Given the description of an element on the screen output the (x, y) to click on. 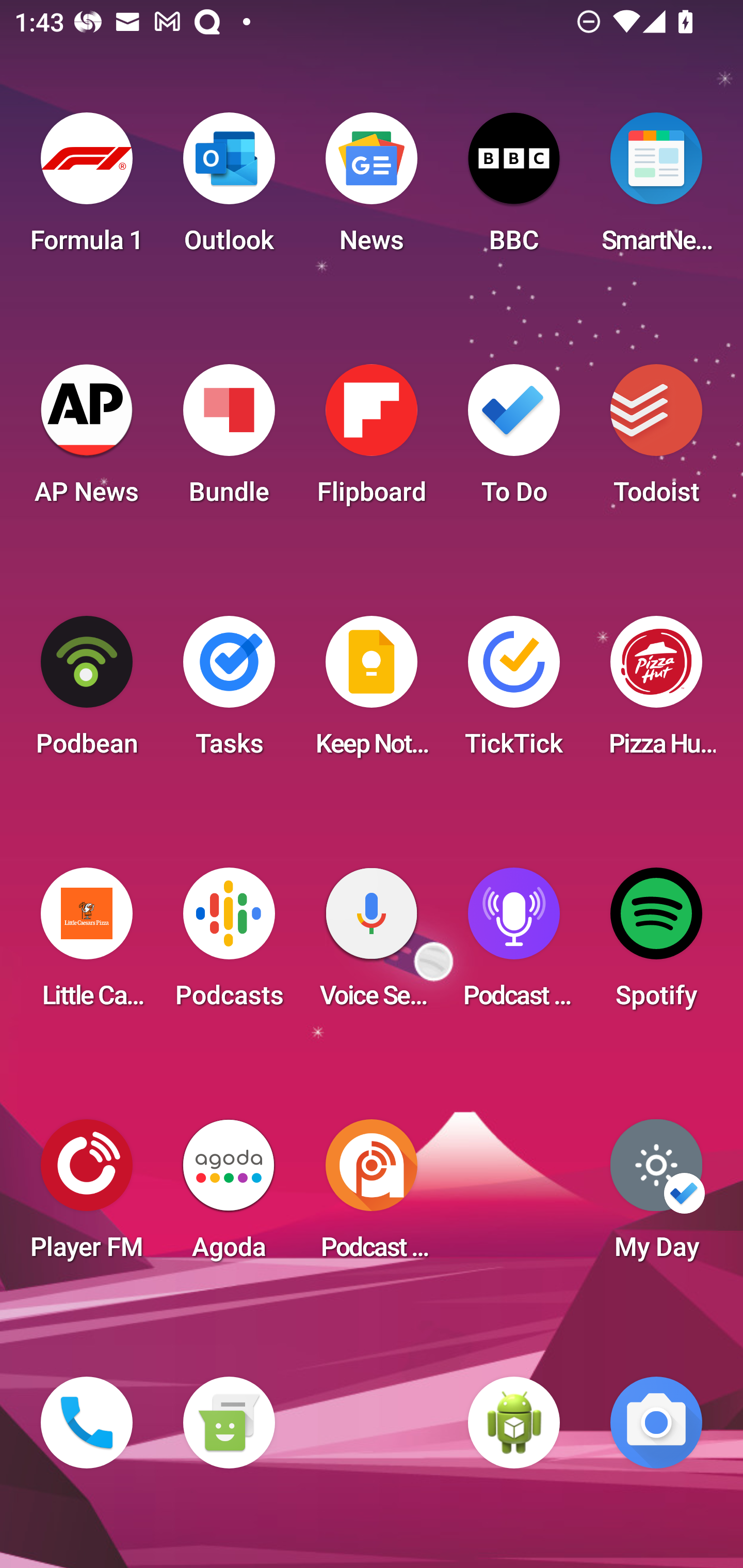
Formula 1 (86, 188)
Outlook (228, 188)
News (371, 188)
BBC (513, 188)
SmartNews (656, 188)
AP News (86, 440)
Bundle (228, 440)
Flipboard (371, 440)
To Do (513, 440)
Todoist (656, 440)
Podbean (86, 692)
Tasks (228, 692)
Keep Notes (371, 692)
TickTick (513, 692)
Pizza Hut HK & Macau (656, 692)
Little Caesars Pizza (86, 943)
Podcasts (228, 943)
Voice Search (371, 943)
Podcast Player (513, 943)
Spotify (656, 943)
Player FM (86, 1195)
Agoda (228, 1195)
Podcast Addict (371, 1195)
My Day (656, 1195)
Phone (86, 1422)
Messaging (228, 1422)
WebView Browser Tester (513, 1422)
Camera (656, 1422)
